Given the description of an element on the screen output the (x, y) to click on. 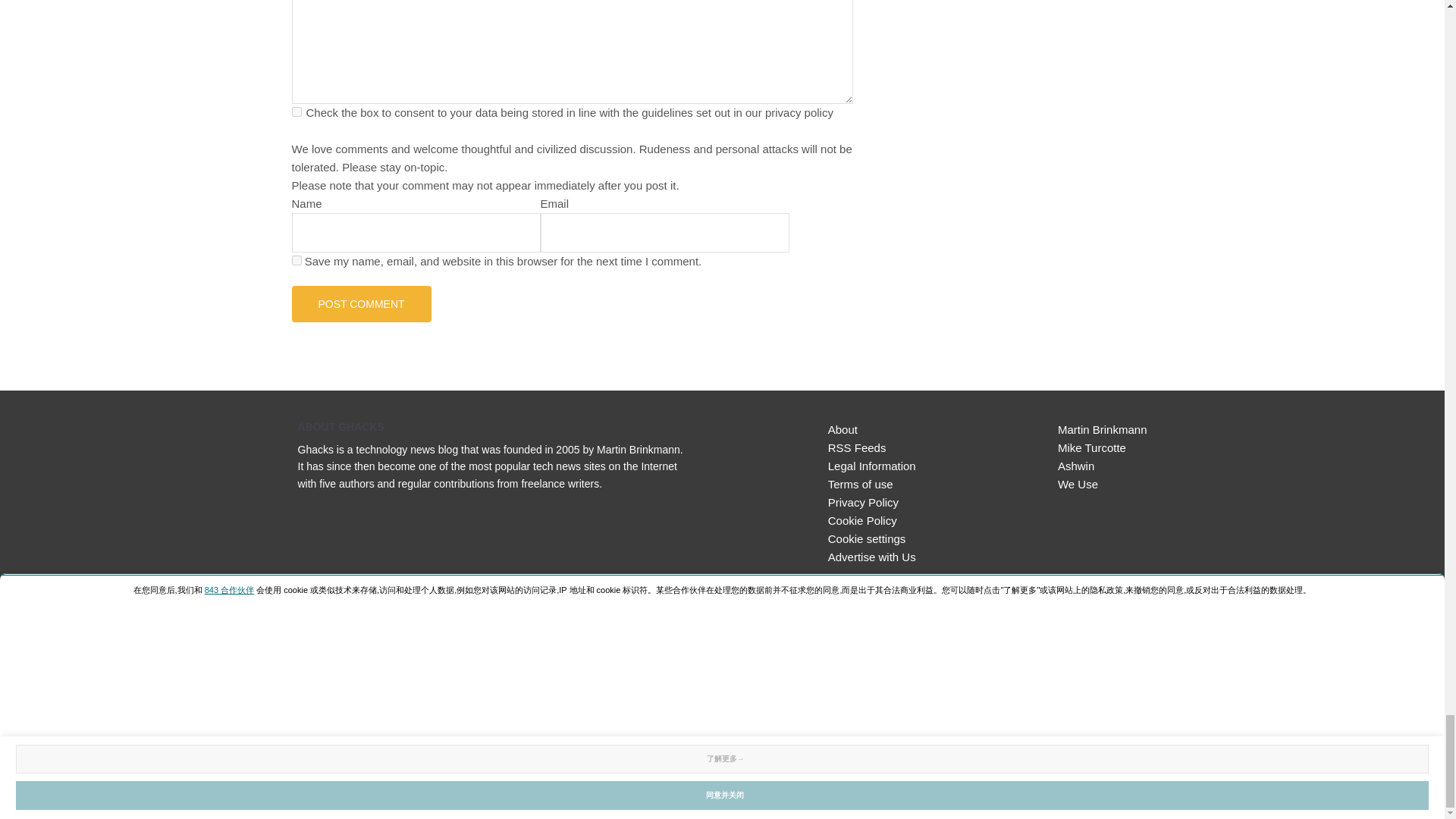
privacy-key (296, 112)
Post Comment (360, 303)
yes (296, 260)
